Given the description of an element on the screen output the (x, y) to click on. 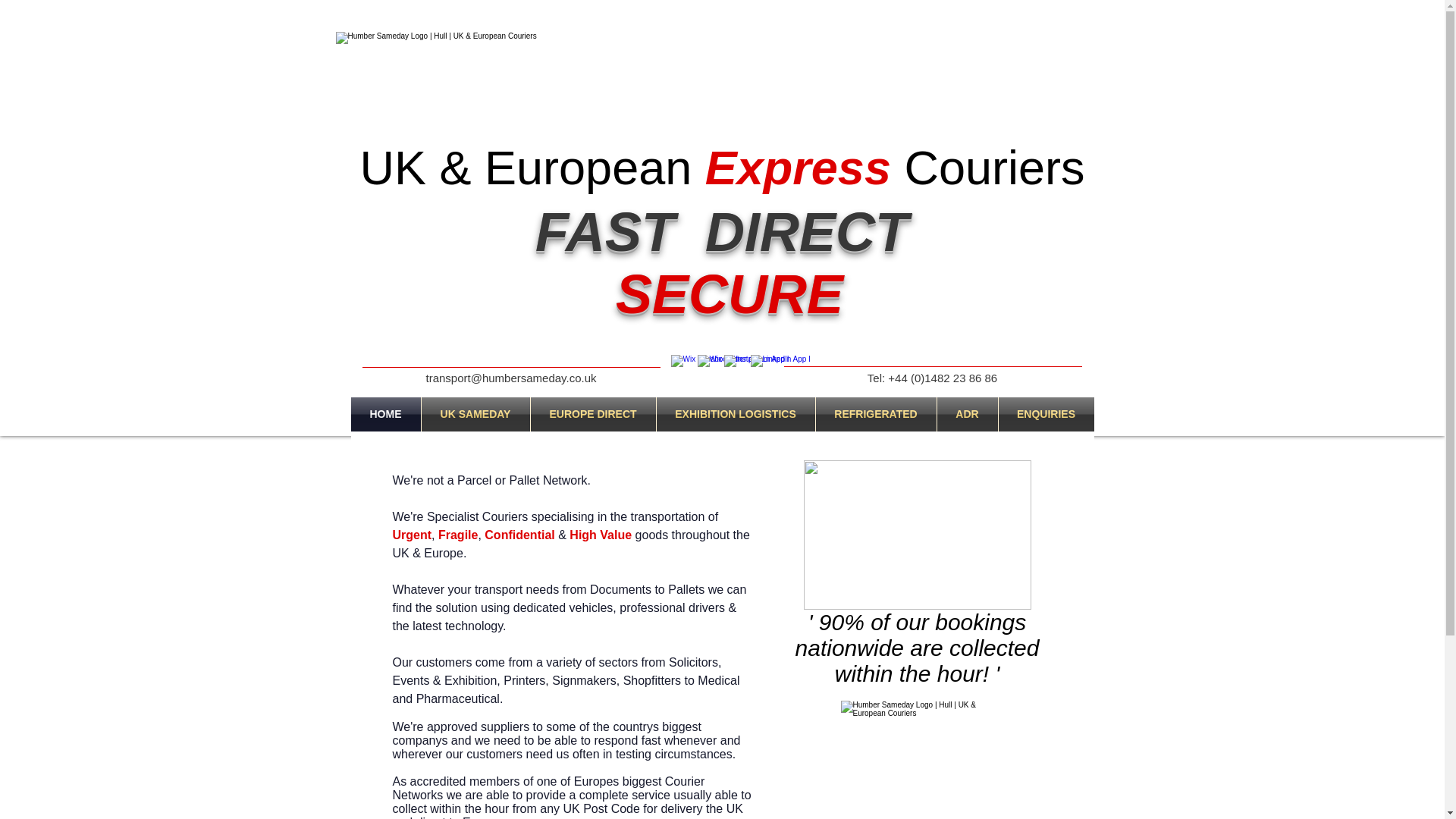
ENQUIRIES (1045, 414)
HOME (385, 414)
EUROPE DIRECT (593, 414)
UK SAMEDAY (475, 414)
EXHIBITION LOGISTICS (735, 414)
REFRIGERATED (875, 414)
ADR (967, 414)
